Given the description of an element on the screen output the (x, y) to click on. 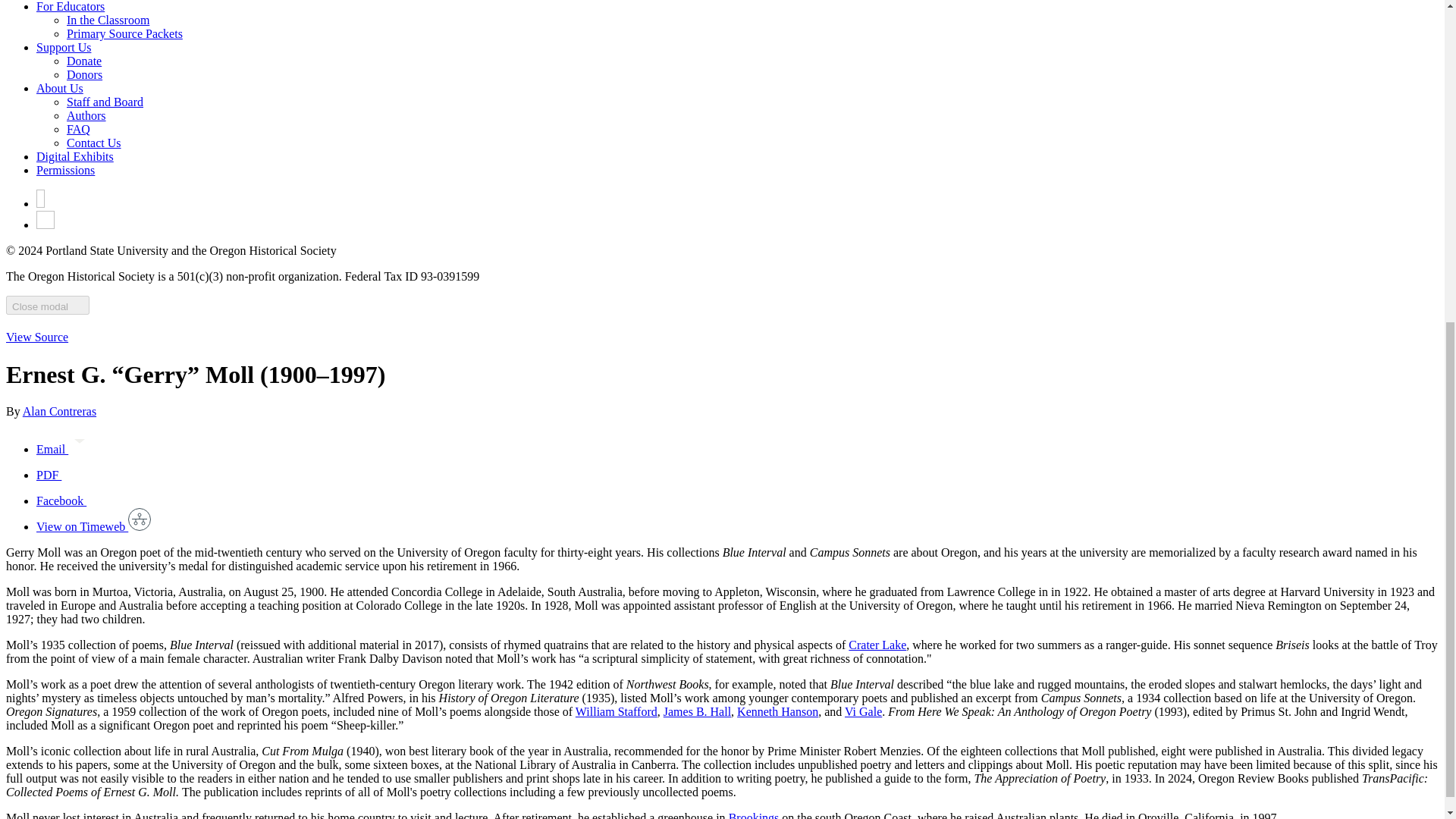
Email a link to this article (63, 449)
Download a printable version of this article (60, 474)
Contact Us (93, 142)
Support Us (63, 47)
About Us (59, 88)
Permissions (65, 169)
Primary Source Packets (124, 33)
For Educators (70, 6)
Close modal (46, 304)
Donate (83, 60)
